Given the description of an element on the screen output the (x, y) to click on. 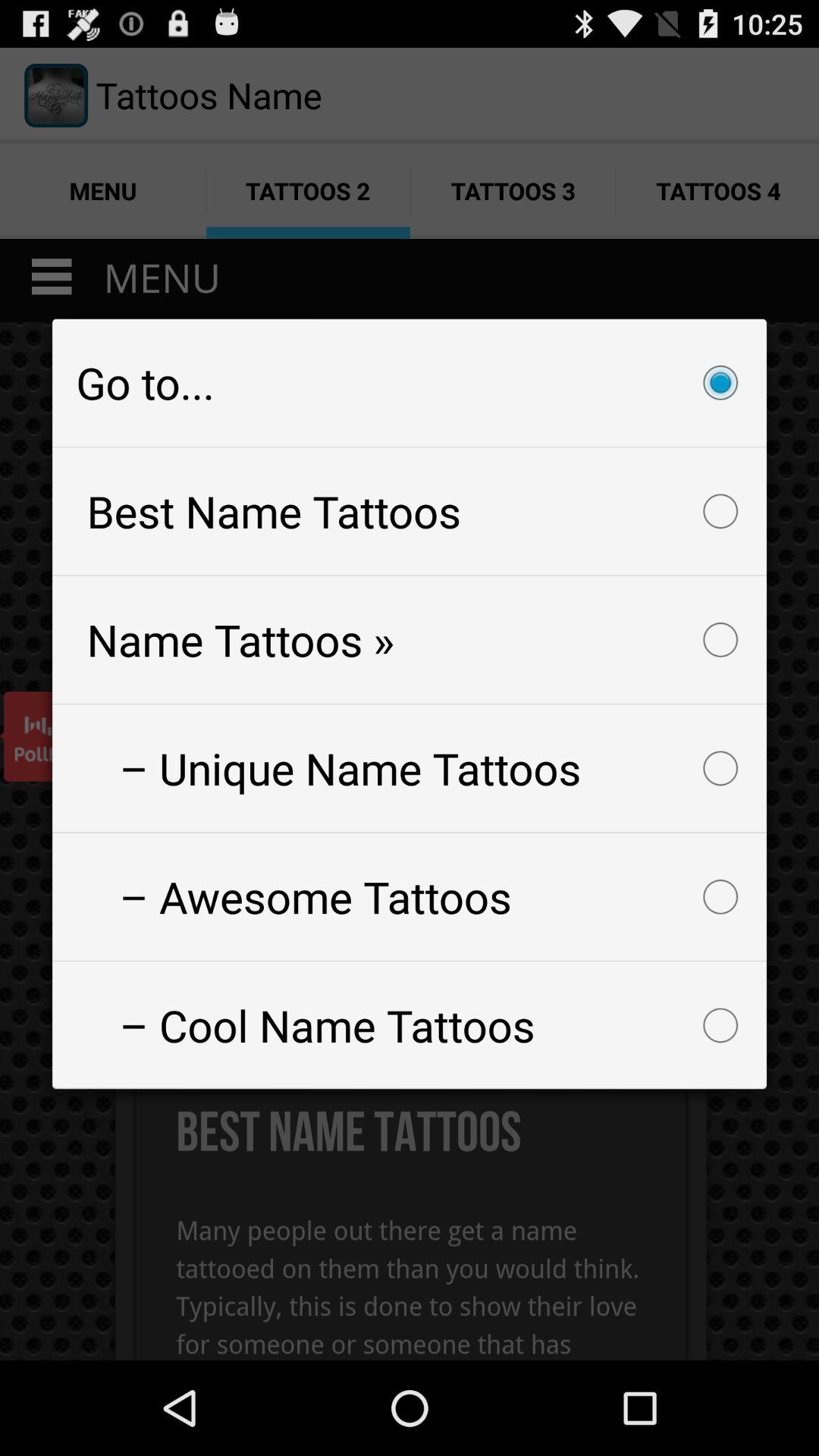
scroll until go to... checkbox (409, 382)
